Given the description of an element on the screen output the (x, y) to click on. 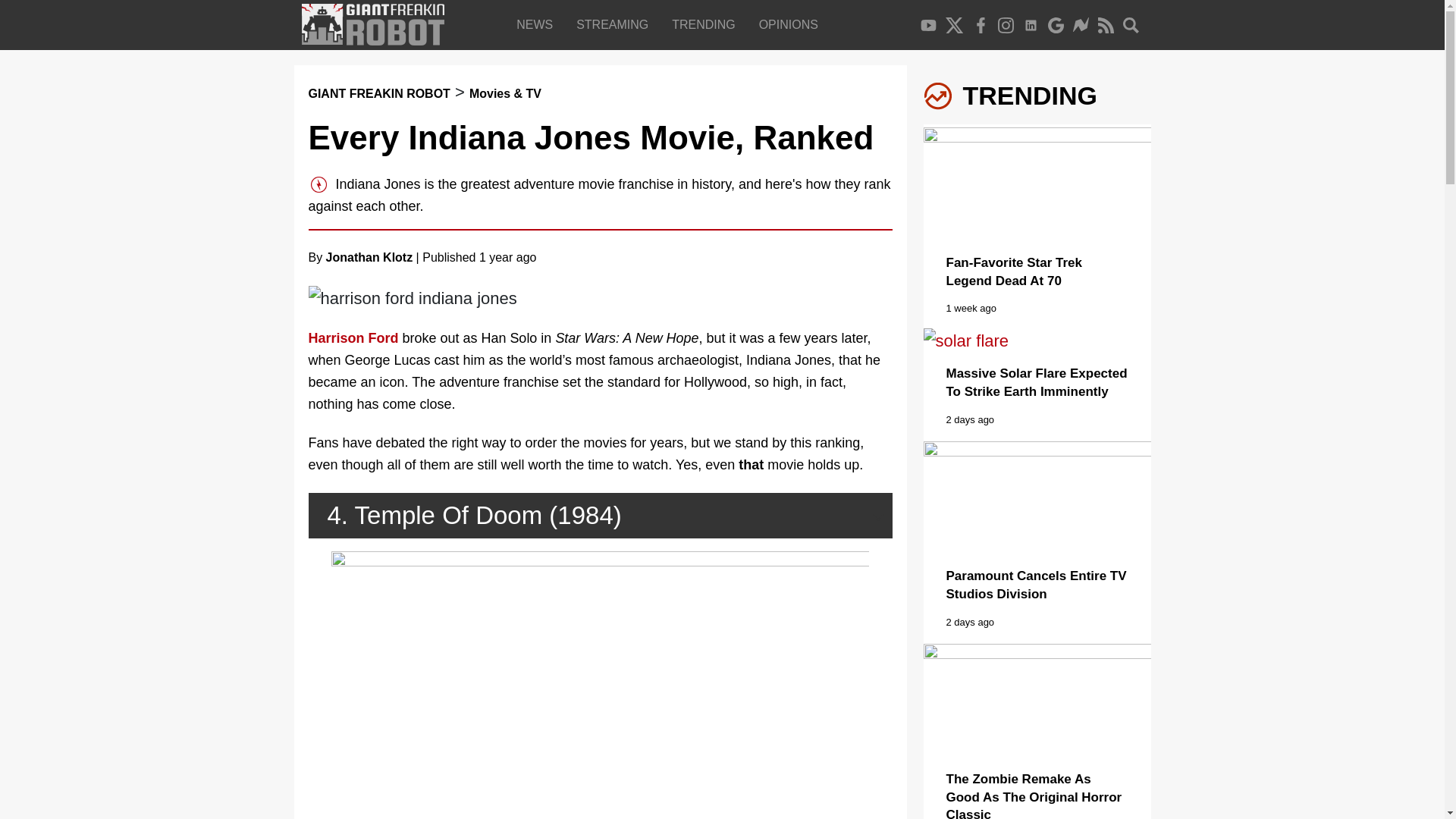
TRENDING (706, 24)
Every Indiana Jones Movie, Ranked (590, 137)
OPINIONS (791, 24)
Entertainment News (537, 24)
NEWS (537, 24)
Trending (706, 24)
Streaming (615, 24)
GIANT FREAKIN ROBOT (378, 92)
STREAMING (615, 24)
